Given the description of an element on the screen output the (x, y) to click on. 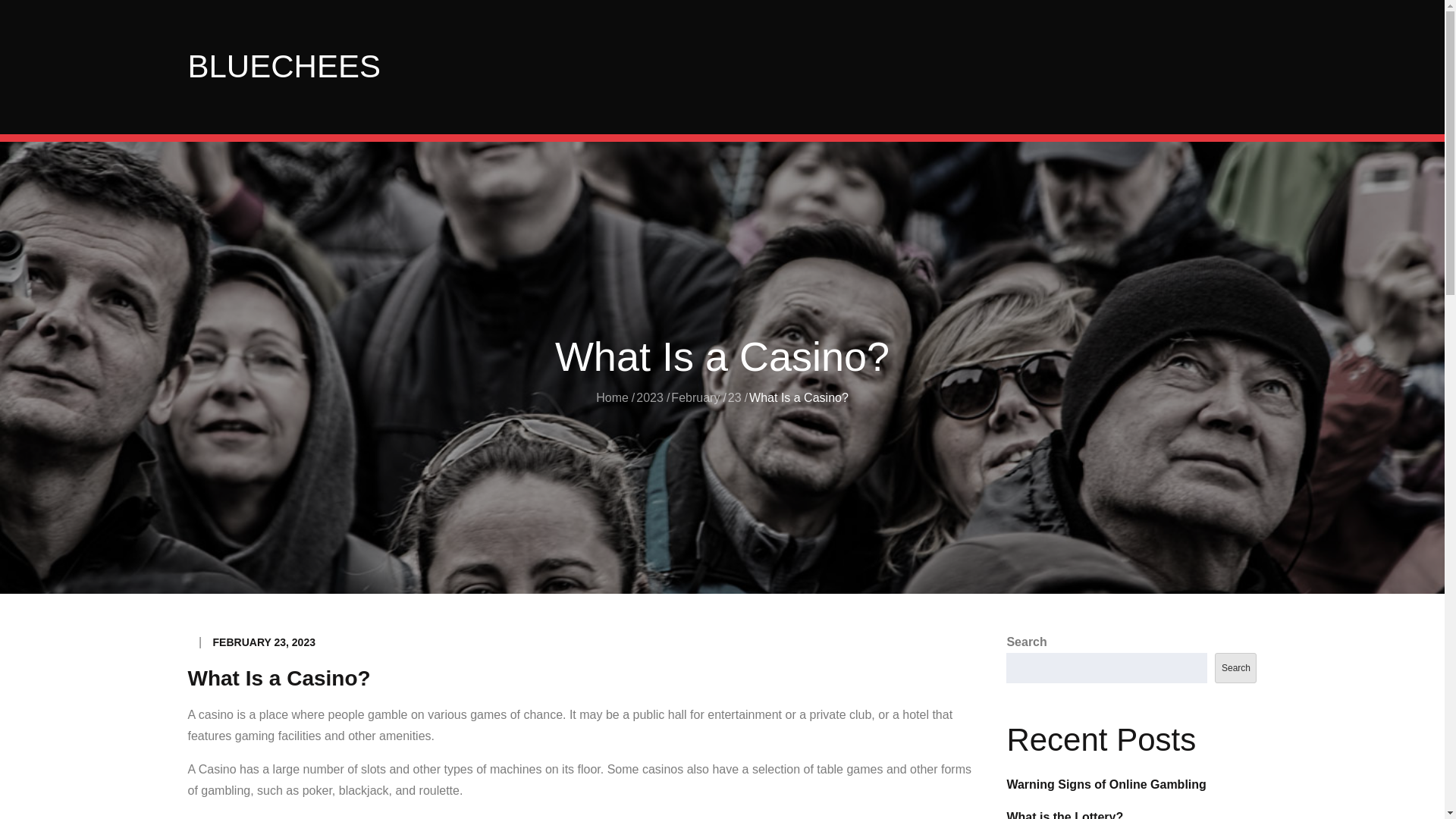
Warning Signs of Online Gambling (1105, 784)
February (695, 397)
BLUECHEES (283, 66)
What is the Lottery? (1064, 814)
Search (1235, 667)
Home (611, 397)
2023 (649, 397)
23 (734, 397)
FEBRUARY 23, 2023 (263, 642)
